Given the description of an element on the screen output the (x, y) to click on. 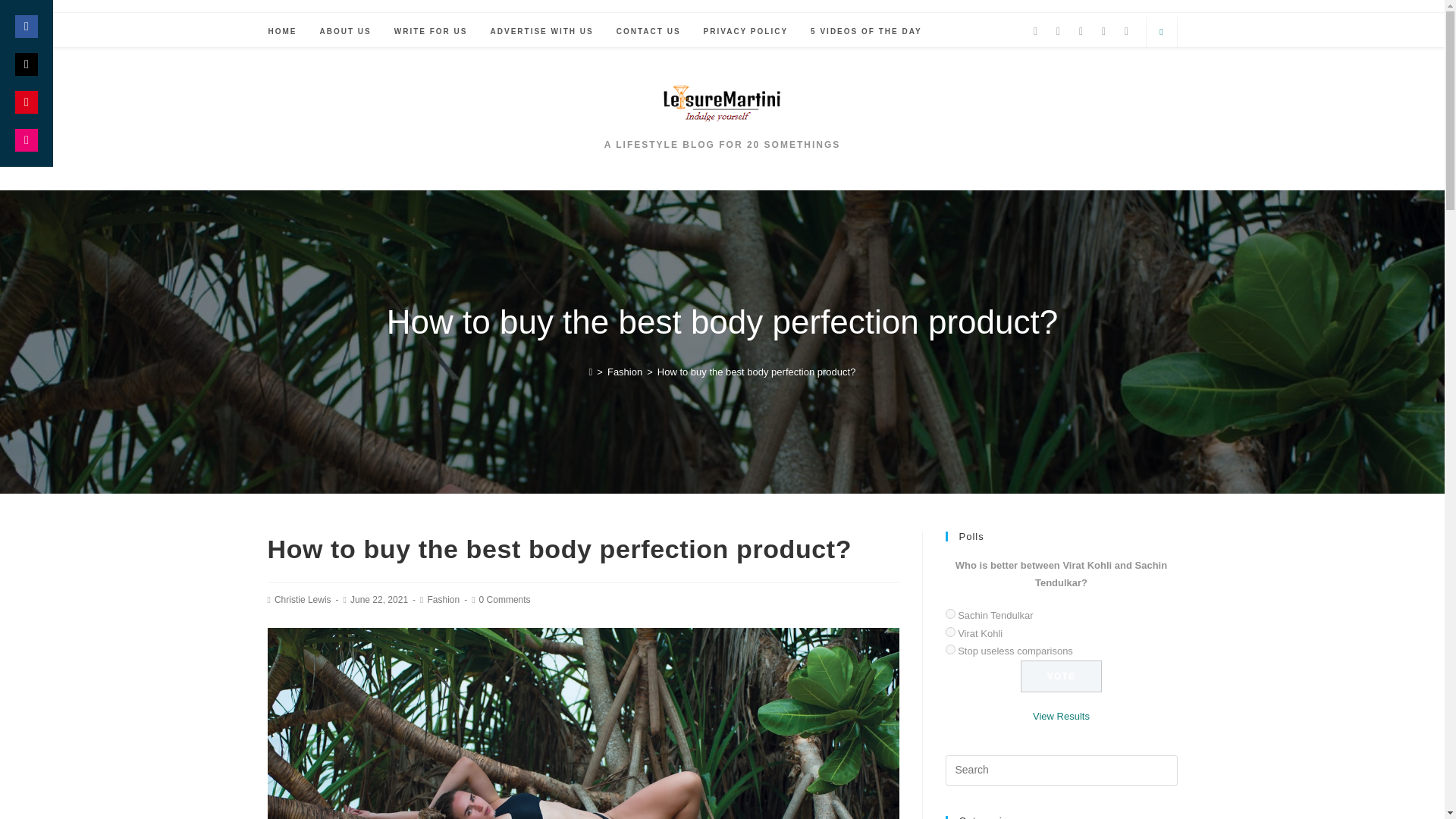
PRIVACY POLICY (746, 31)
ABOUT US (344, 31)
Posts by Christie Lewis (303, 599)
5 VIDEOS OF THE DAY (866, 31)
Christie Lewis (303, 599)
HOME (281, 31)
   Vote    (1061, 676)
8 (949, 649)
How to buy the best body perfection product? (757, 371)
View Results Of This Poll (1060, 715)
